Given the description of an element on the screen output the (x, y) to click on. 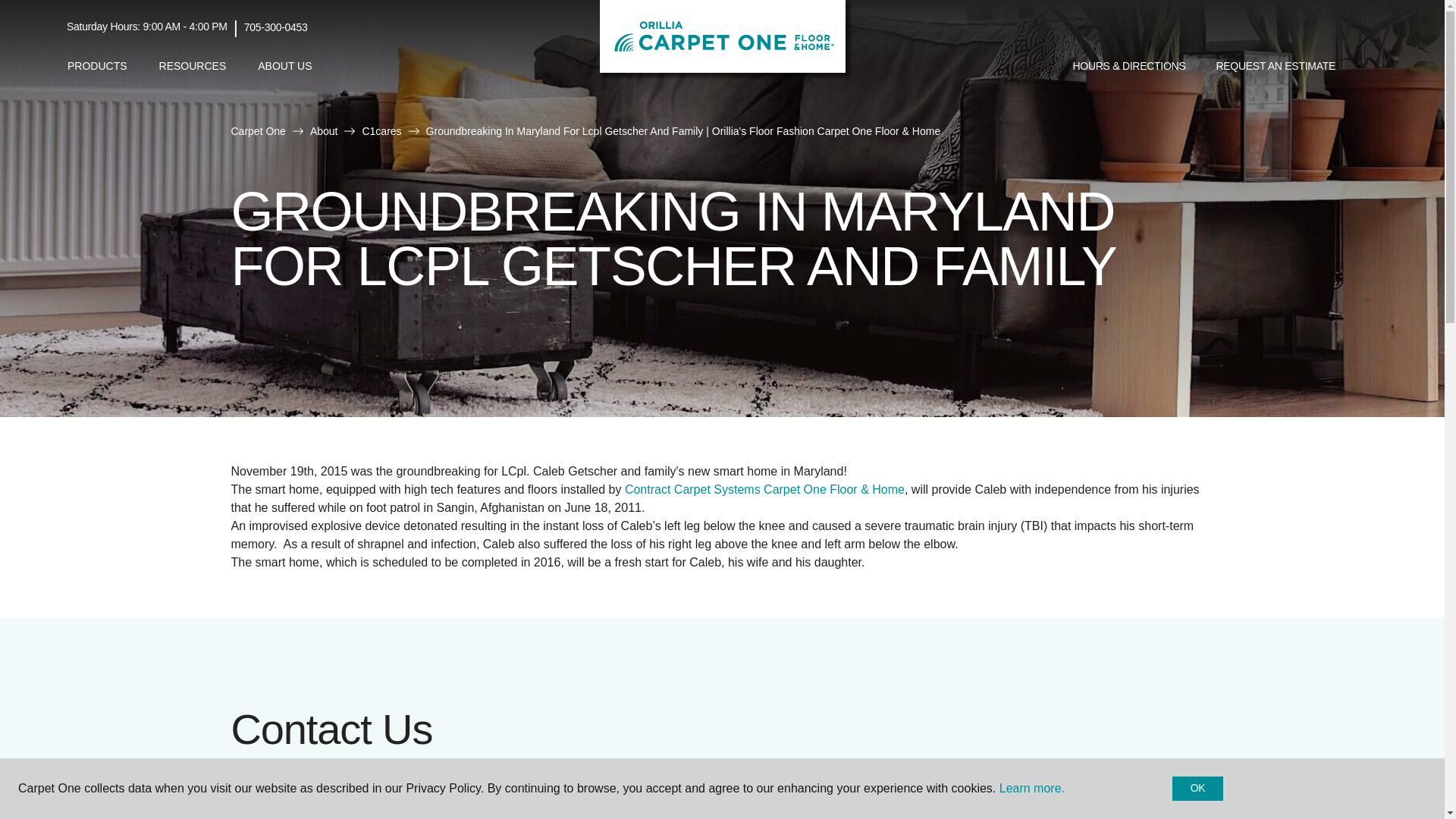
RESOURCES (193, 66)
ABOUT US (284, 66)
PRODUCTS (97, 66)
705-300-0453 (275, 27)
REQUEST AN ESTIMATE (1276, 66)
